Given the description of an element on the screen output the (x, y) to click on. 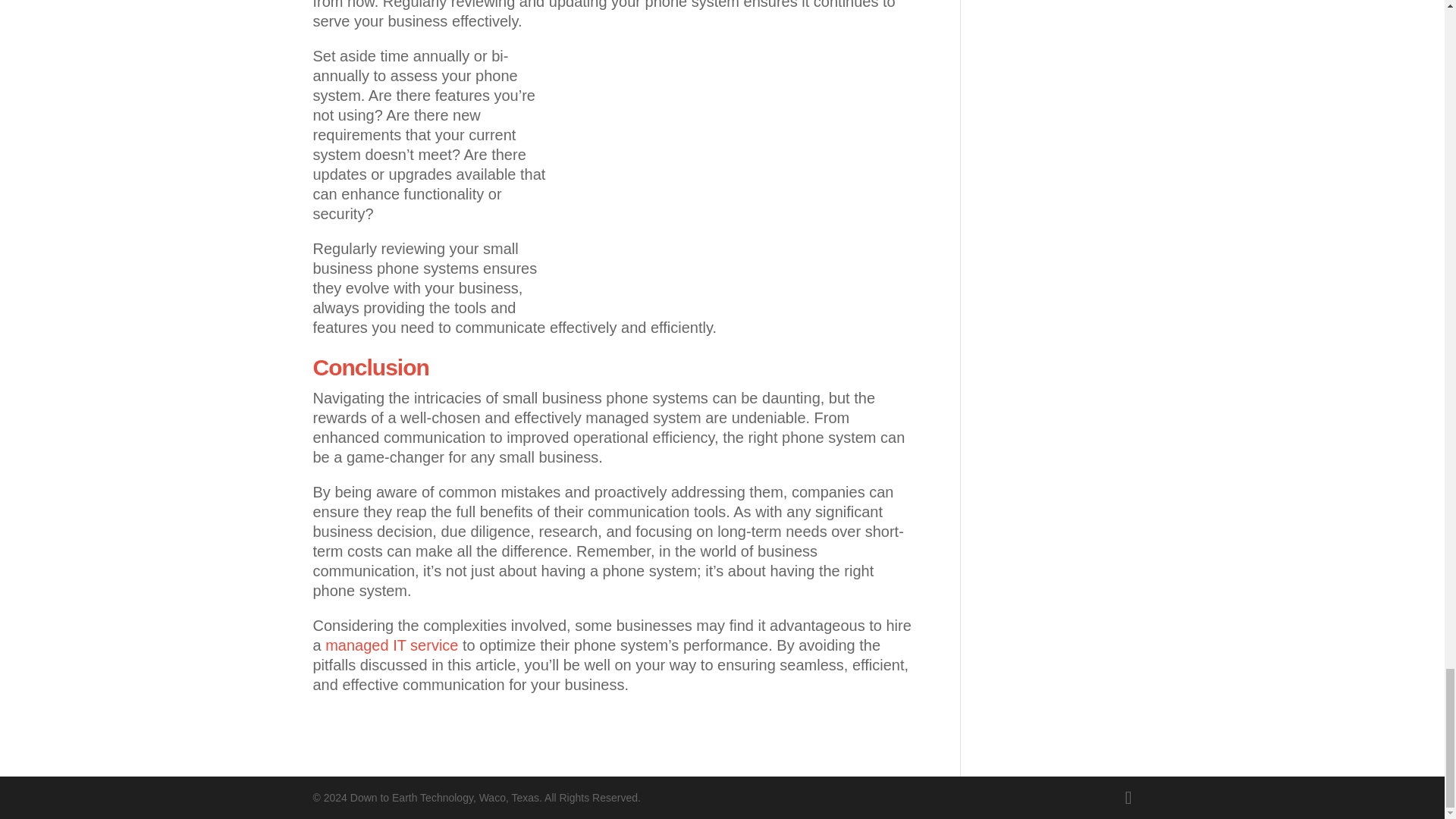
managed IT service (391, 645)
